Given the description of an element on the screen output the (x, y) to click on. 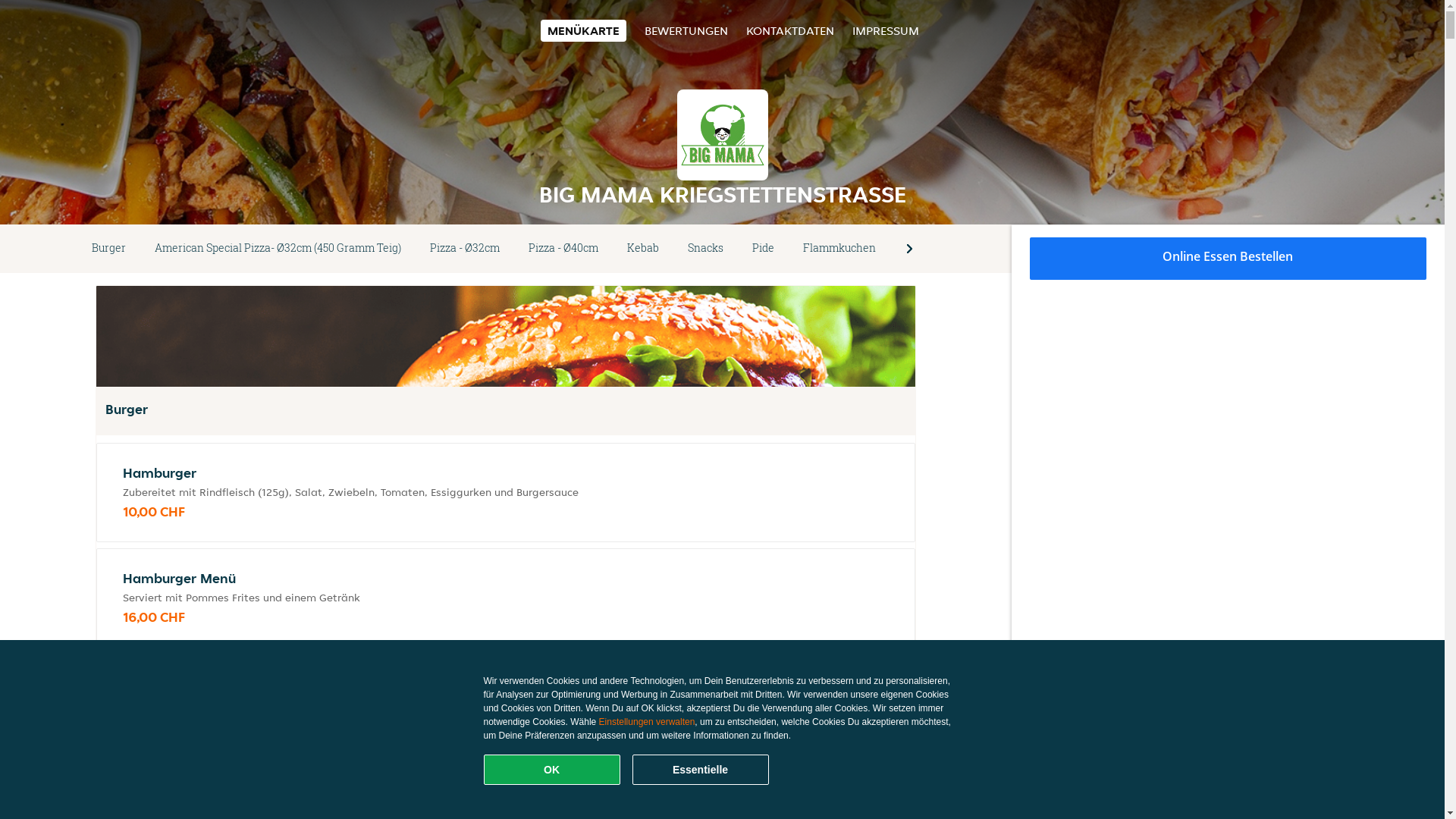
Flammkuchen Element type: text (839, 248)
OK Element type: text (551, 769)
KONTAKTDATEN Element type: text (790, 30)
Snacks Element type: text (705, 248)
Kebab Element type: text (642, 248)
Burger Element type: text (108, 248)
Essentielle Element type: text (700, 769)
IMPRESSUM Element type: text (885, 30)
BEWERTUNGEN Element type: text (686, 30)
Online Essen Bestellen Element type: text (1228, 258)
Einstellungen verwalten Element type: text (647, 721)
Pide Element type: text (762, 248)
Mega Hamburger
Serviert mit Salat
13,00 CHF Element type: text (505, 703)
